Given the description of an element on the screen output the (x, y) to click on. 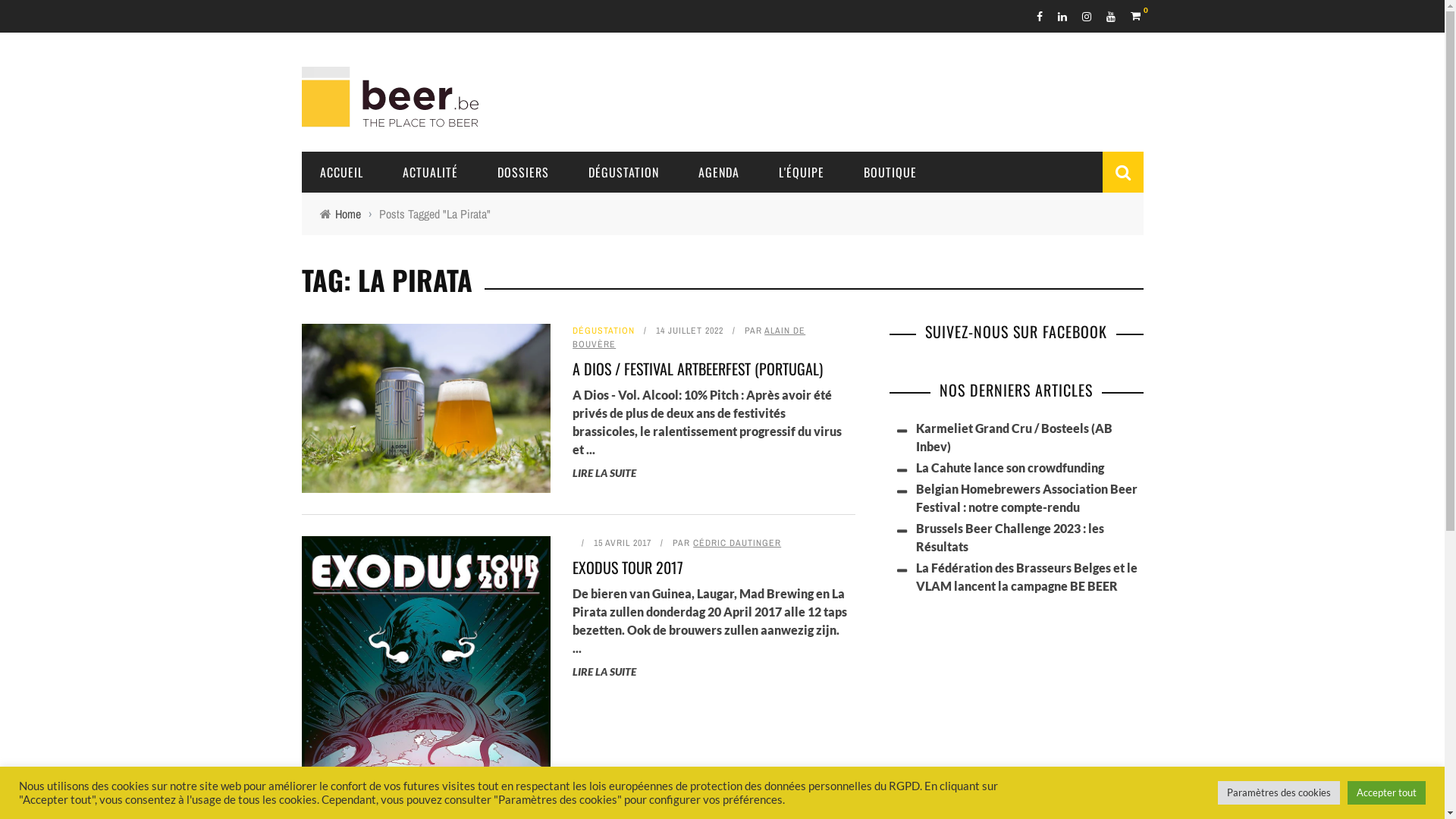
AGENDA Element type: text (717, 172)
Accepter tout Element type: text (1386, 792)
La Cahute lance son crowdfunding Element type: text (1010, 467)
Home Element type: text (347, 213)
0 Element type: text (1135, 15)
DOSSIERS Element type: text (523, 172)
A DIOS / FESTIVAL ARTBEERFEST (PORTUGAL) Element type: text (697, 368)
LIRE LA SUITE Element type: text (604, 472)
BOUTIQUE Element type: text (889, 172)
Karmeliet Grand Cru / Bosteels (AB Inbev) Element type: text (1014, 436)
EXODUS TOUR 2017 Element type: text (627, 566)
ACCUEIL Element type: text (341, 172)
LIRE LA SUITE Element type: text (604, 671)
